Given the description of an element on the screen output the (x, y) to click on. 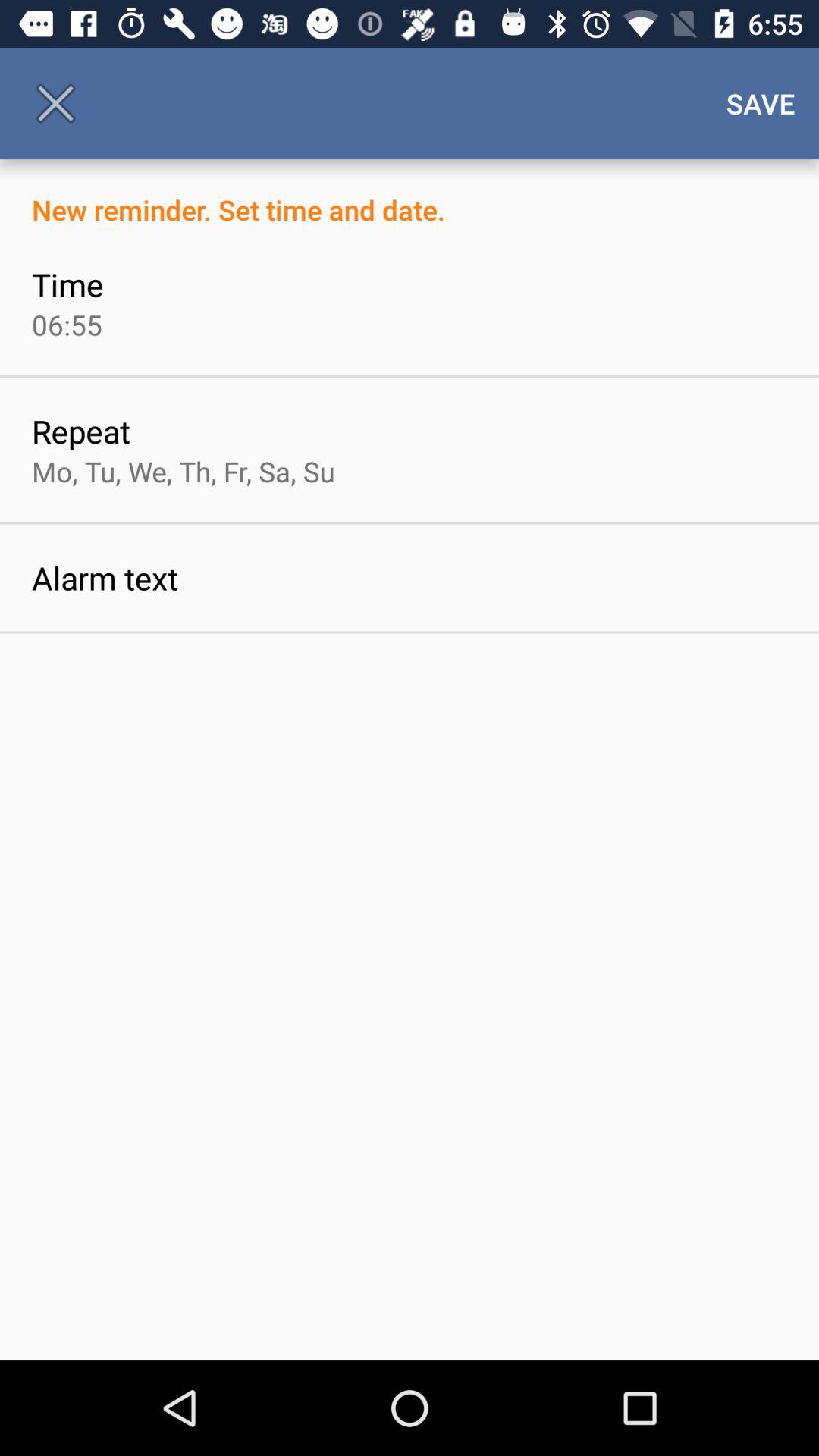
choose 06:55 item (66, 324)
